Given the description of an element on the screen output the (x, y) to click on. 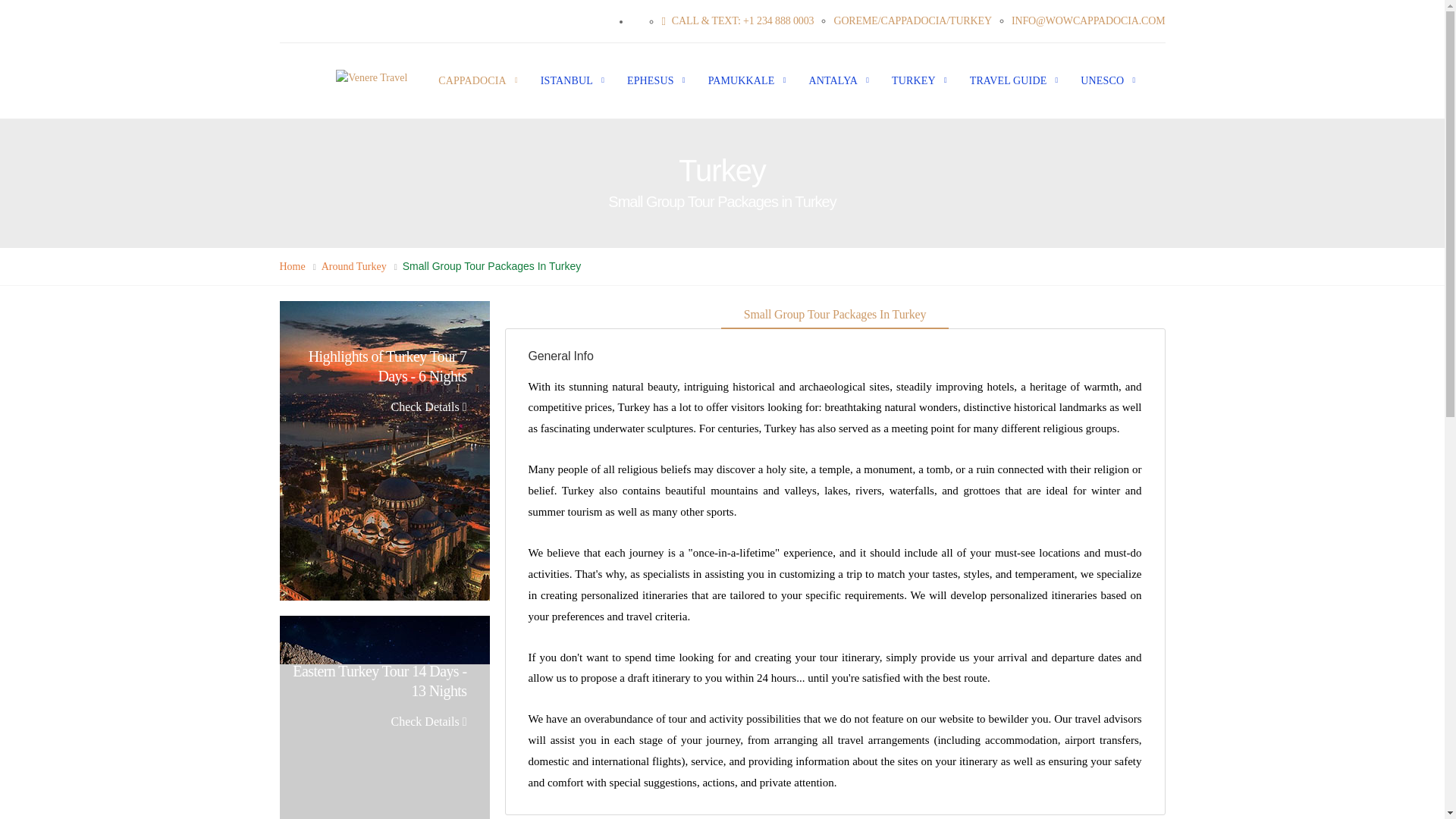
CAPPADOCIA (466, 79)
Welcome to Venere Travel Website (375, 78)
Eastern Turkey Tour (384, 717)
